Given the description of an element on the screen output the (x, y) to click on. 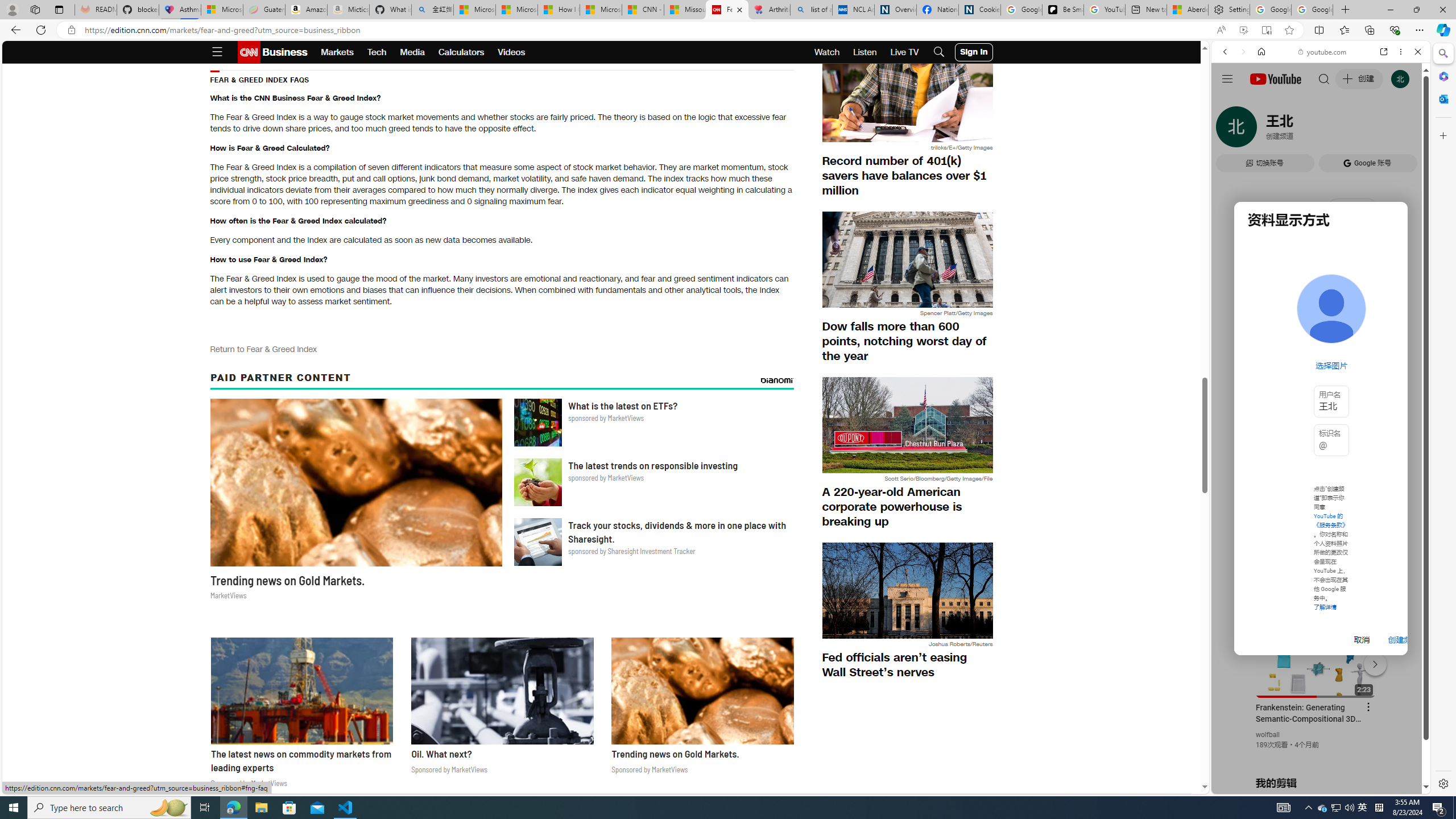
Forward (1242, 51)
Open link in new tab (1383, 51)
A 220-year-old American corporate powerhouse is breaking up (906, 506)
CNN logo (248, 51)
Search Filter, Search Tools (1350, 129)
Web scope (1230, 102)
